Given the description of an element on the screen output the (x, y) to click on. 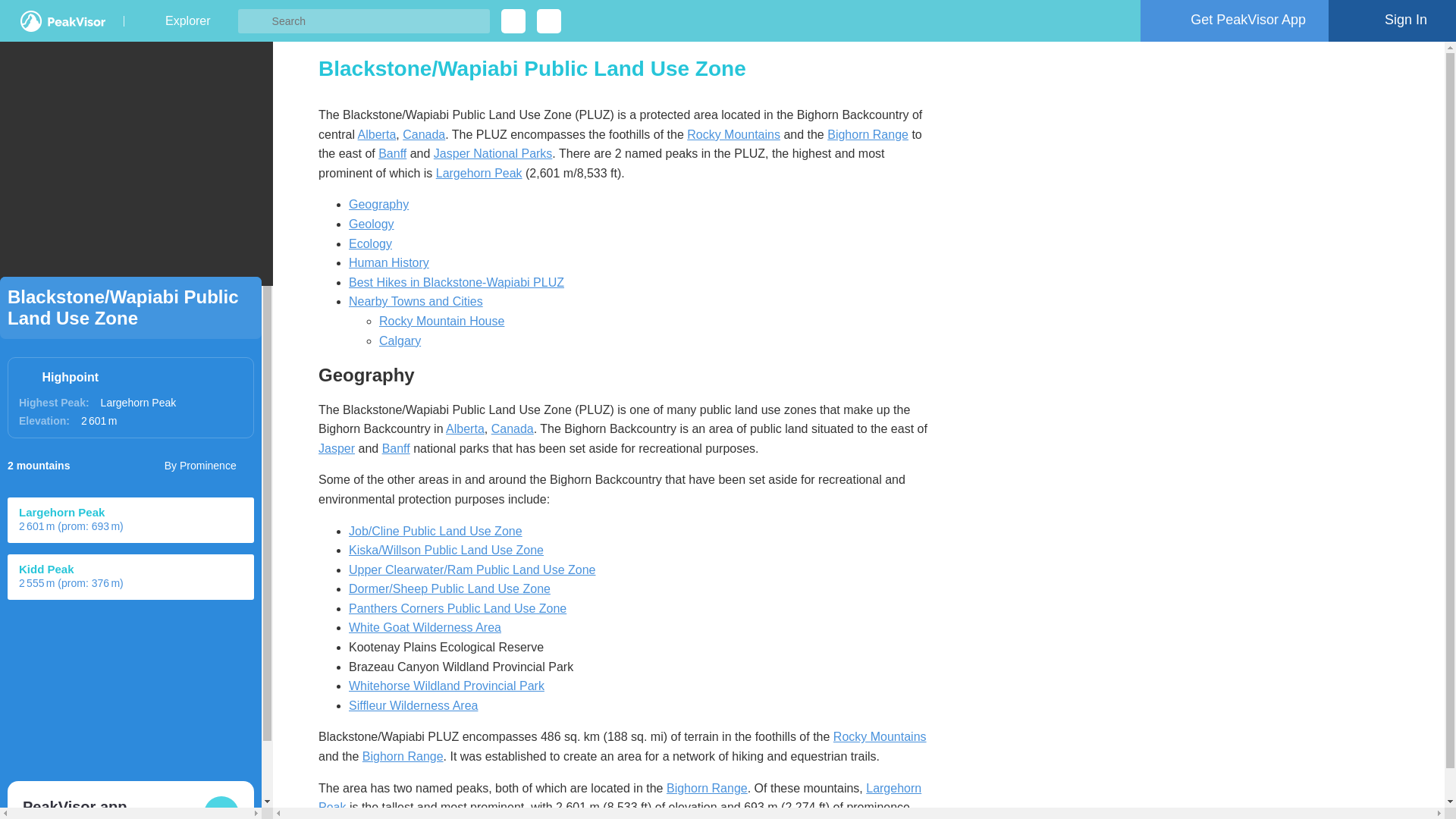
Jasper National Parks (493, 153)
Explorer (186, 20)
Canada (424, 133)
Alberta (377, 133)
PeakVisor (62, 20)
Rocky Mountains (733, 133)
Bighorn Range (867, 133)
Largehorn Peak (478, 173)
Banff (392, 153)
Largehorn Peak (138, 402)
